Given the description of an element on the screen output the (x, y) to click on. 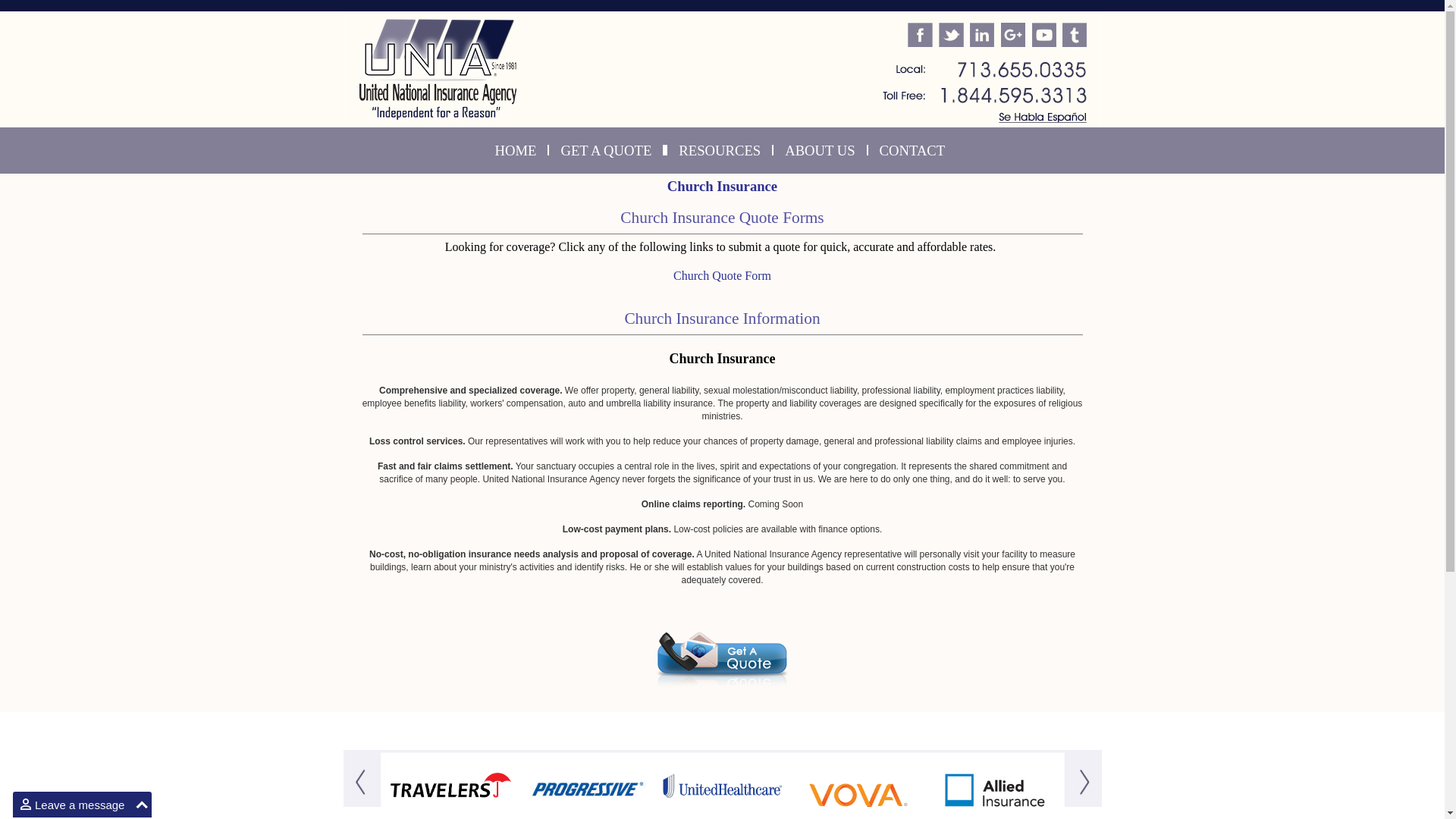
HOME (515, 150)
GET A QUOTE (605, 150)
Maximize (141, 804)
